Given the description of an element on the screen output the (x, y) to click on. 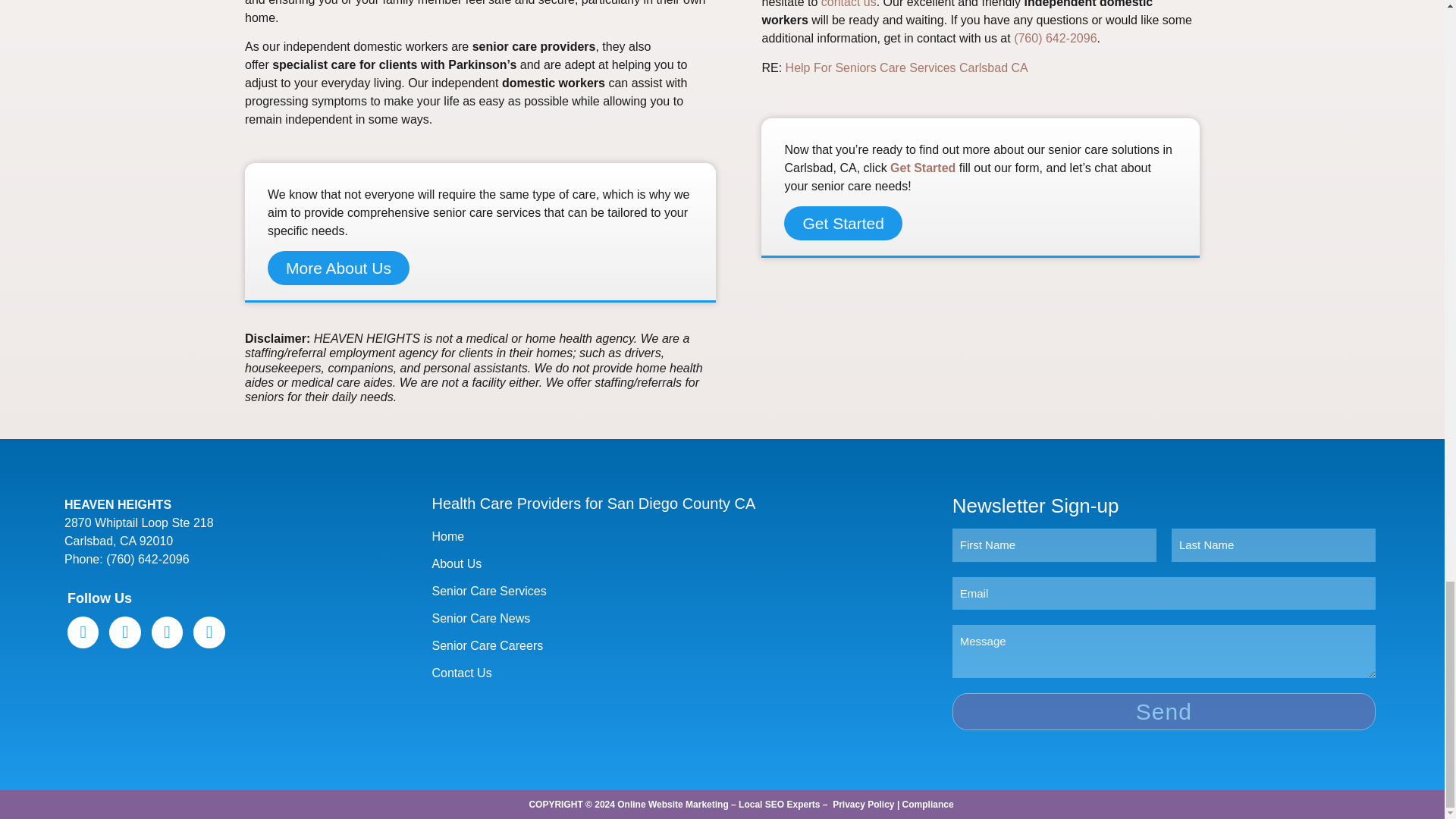
Get Started (842, 223)
Privacy Policy (862, 804)
Online Website Marketing - Local SEO Experts (718, 804)
Get Started (922, 167)
Help For Seniors Care Services Carlsbad CA (906, 67)
Compliance (927, 804)
Help For Seniors Carlsbad CA (906, 67)
contact us (848, 4)
More About Us (338, 267)
